Given the description of an element on the screen output the (x, y) to click on. 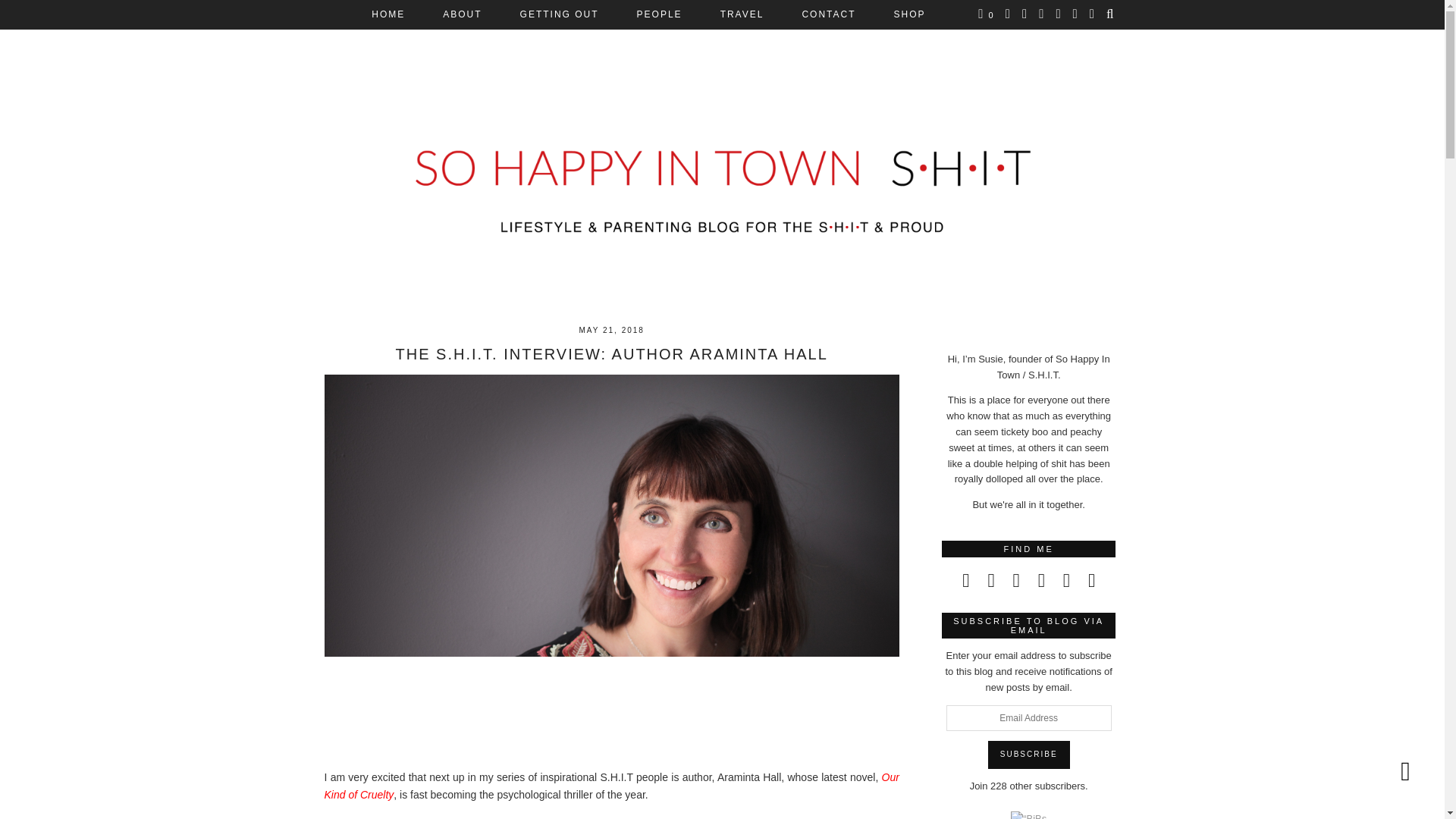
ABOUT (461, 14)
CONTACT (829, 14)
HOME (387, 14)
SHOP (909, 14)
Our Kind of Cruelty (611, 786)
GETTING OUT (558, 14)
PEOPLE (659, 14)
TRAVEL (742, 14)
